Given the description of an element on the screen output the (x, y) to click on. 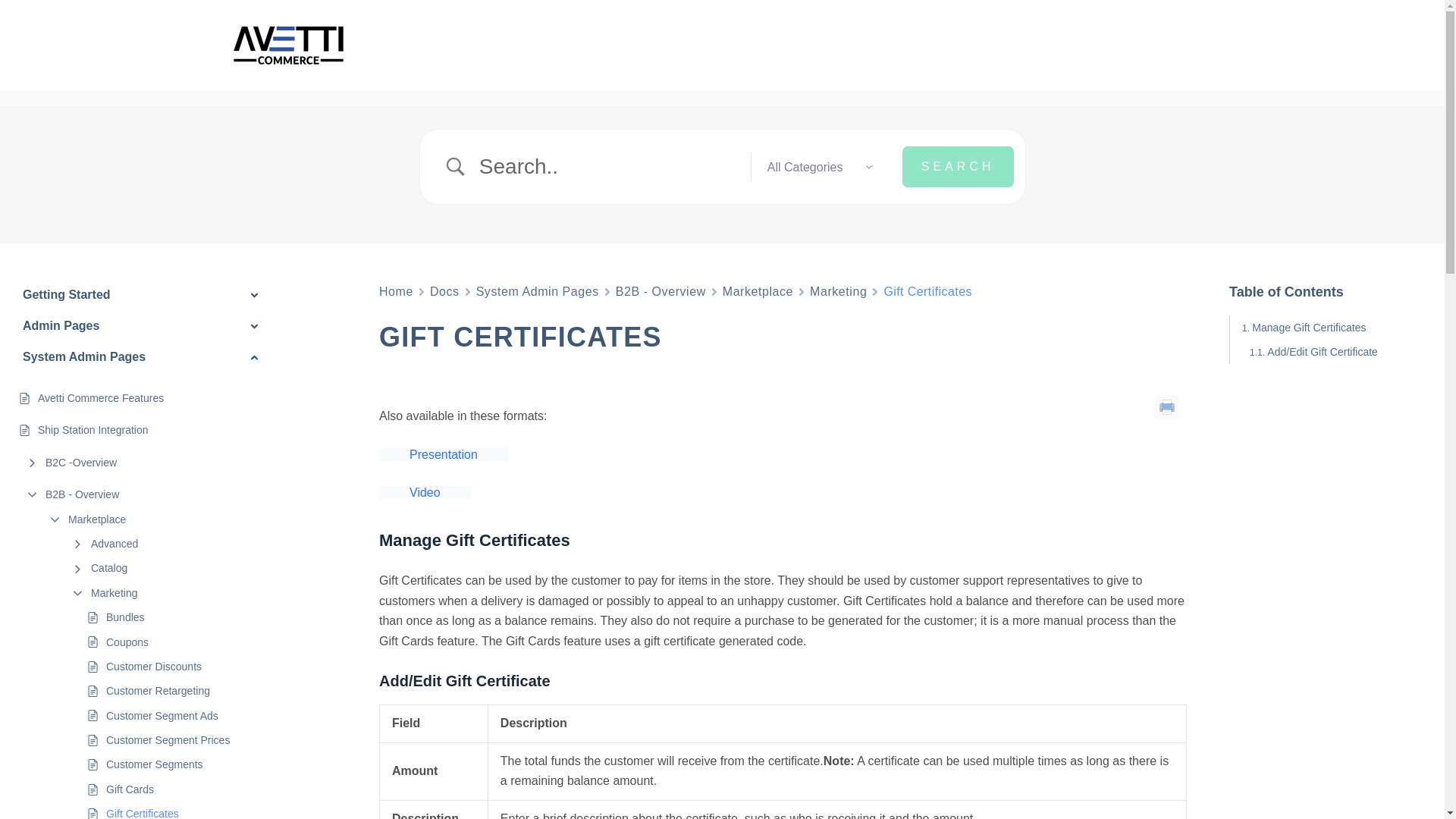
Search (957, 166)
Search (957, 166)
Home (395, 291)
Skip to content (15, 7)
B2B - Overview (660, 291)
Marketing (837, 291)
Search (957, 166)
Marketplace (757, 291)
Docs (444, 291)
System Admin Pages (537, 291)
